Given the description of an element on the screen output the (x, y) to click on. 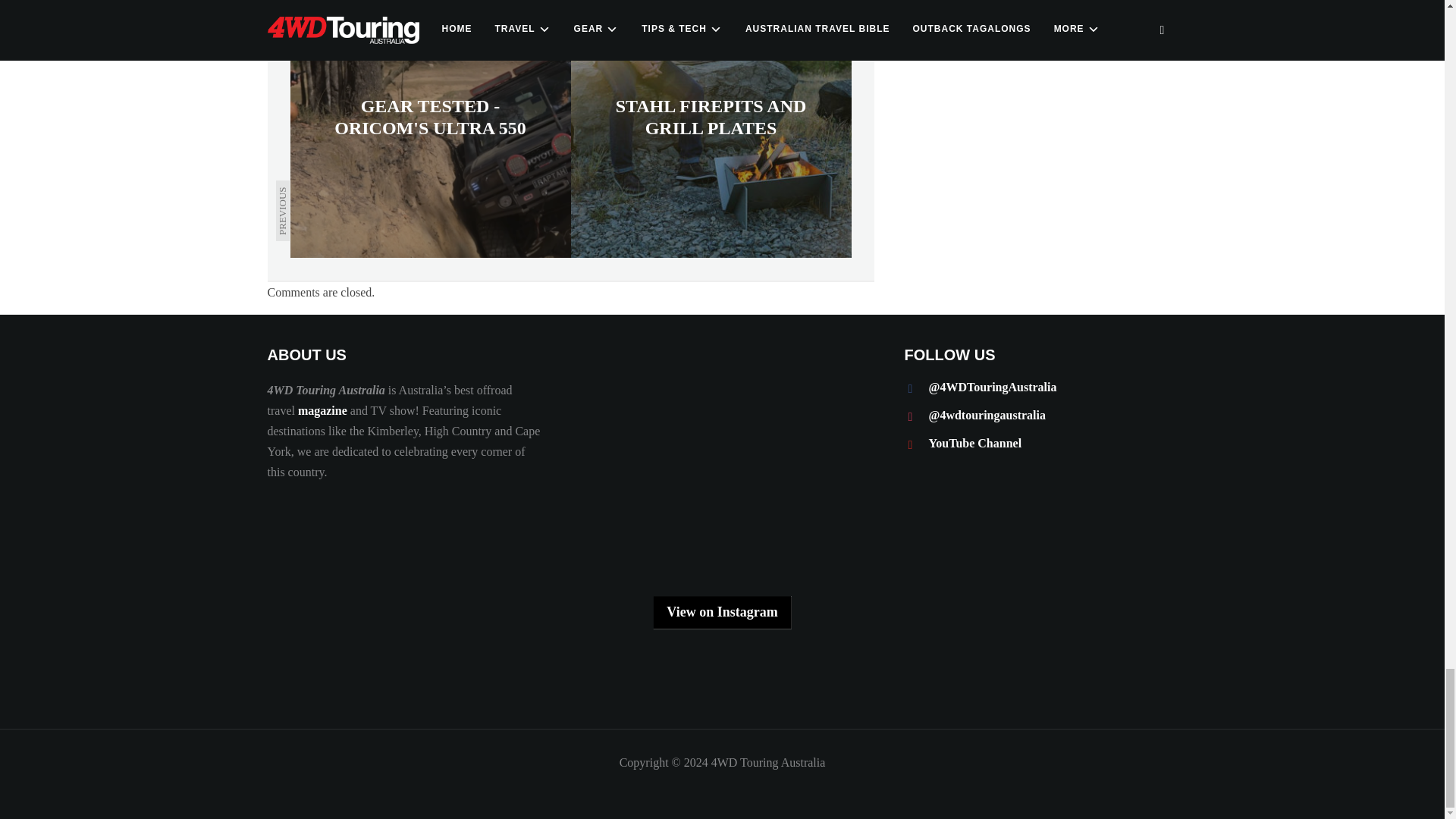
GEAR TESTED - ORICOM'S ULTRA 550 (429, 128)
STAHL FIREPITS AND GRILL PLATES (710, 128)
